Given the description of an element on the screen output the (x, y) to click on. 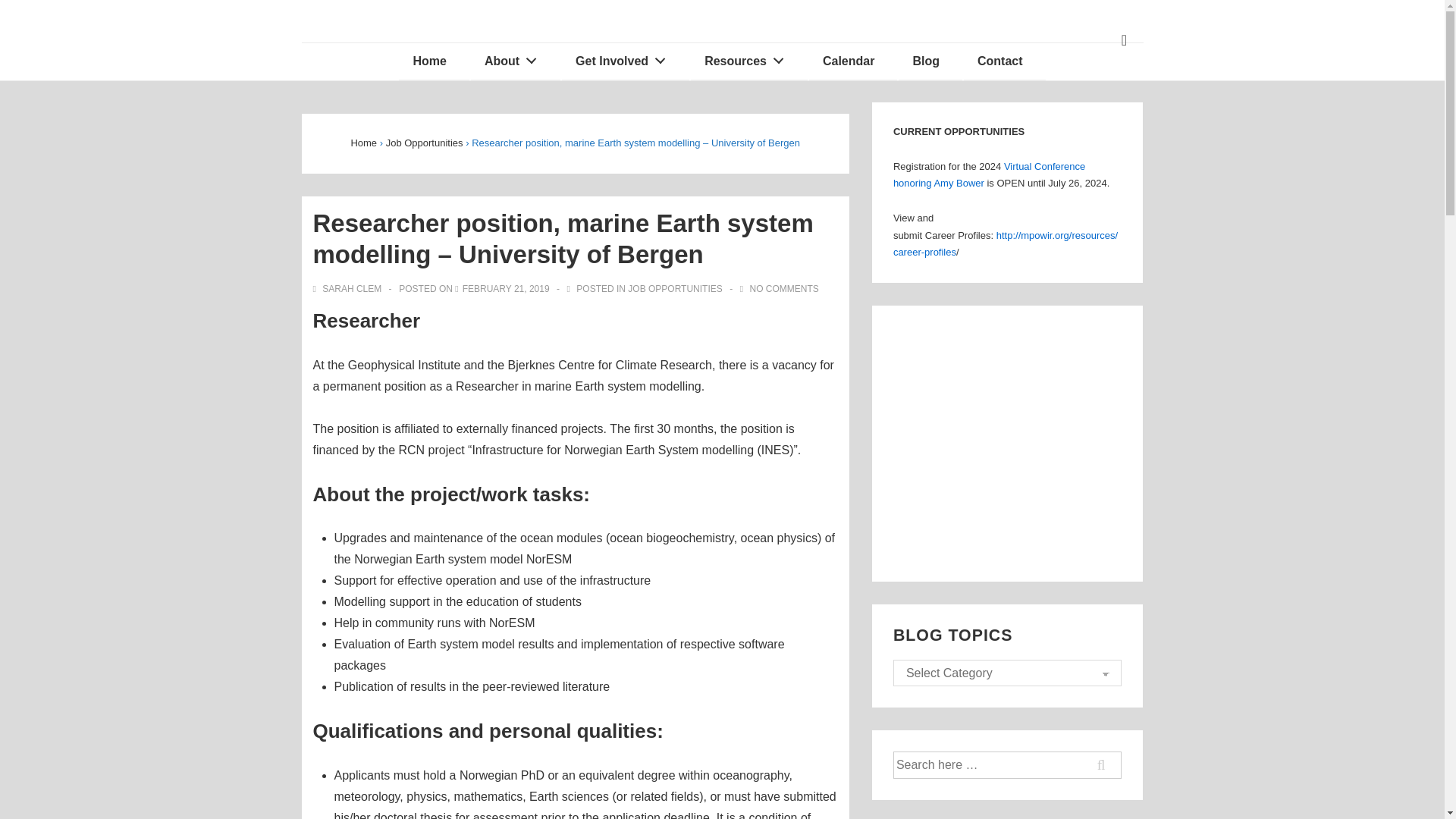
View all posts by Sarah Clem (348, 288)
Resources (749, 61)
MENU (1123, 40)
Home (433, 61)
Get Involved (625, 61)
About (515, 61)
